Given the description of an element on the screen output the (x, y) to click on. 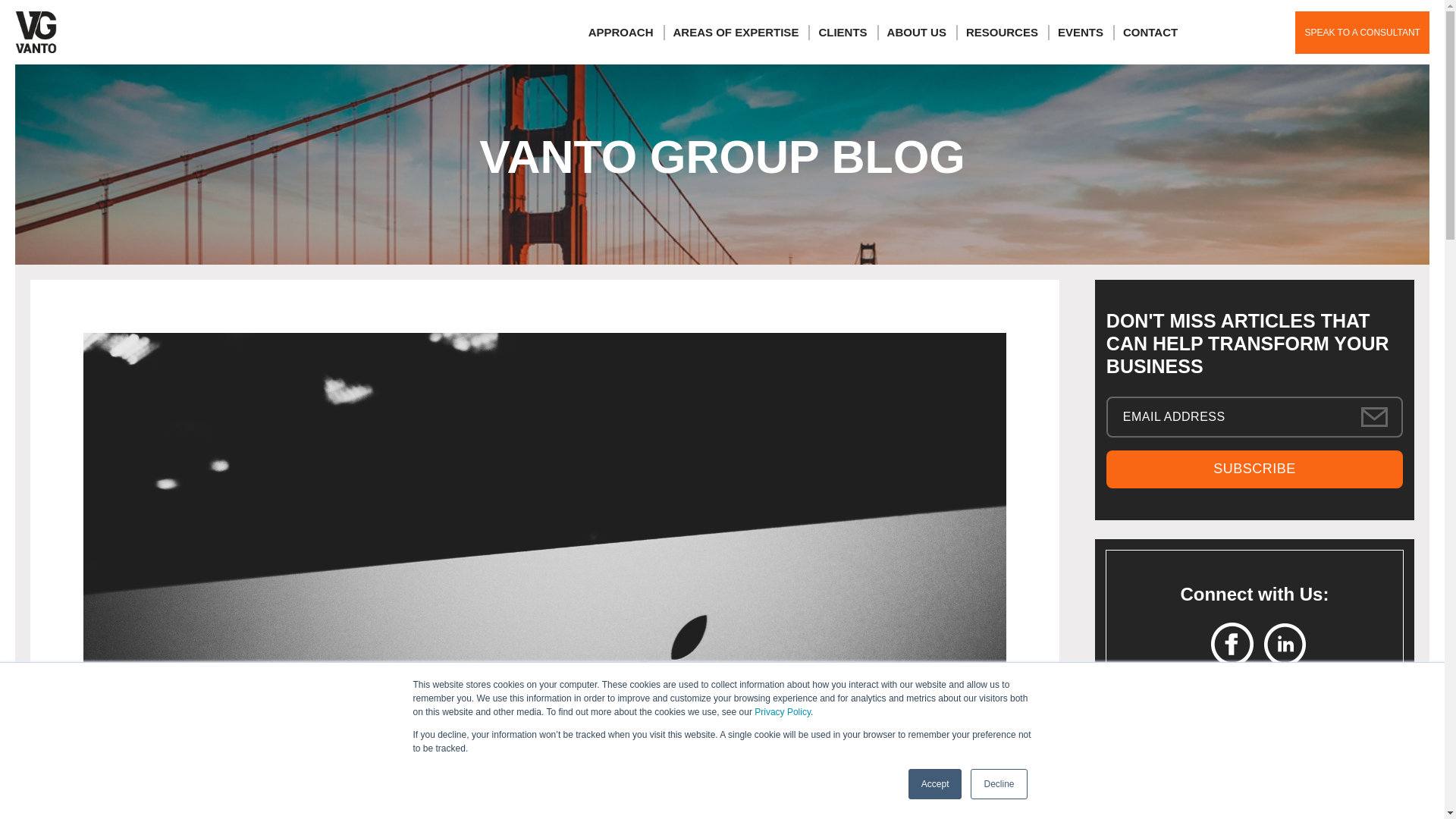
AREAS OF EXPERTISE (735, 31)
EVENTS (1080, 31)
Accept (935, 784)
ABOUT US (916, 31)
Subscribe (1254, 469)
Privacy Policy (782, 711)
RESOURCES (1002, 31)
Decline (998, 784)
CONTACT (1149, 31)
CLIENTS (842, 31)
APPROACH (620, 31)
Subscribe (1254, 469)
